Given the description of an element on the screen output the (x, y) to click on. 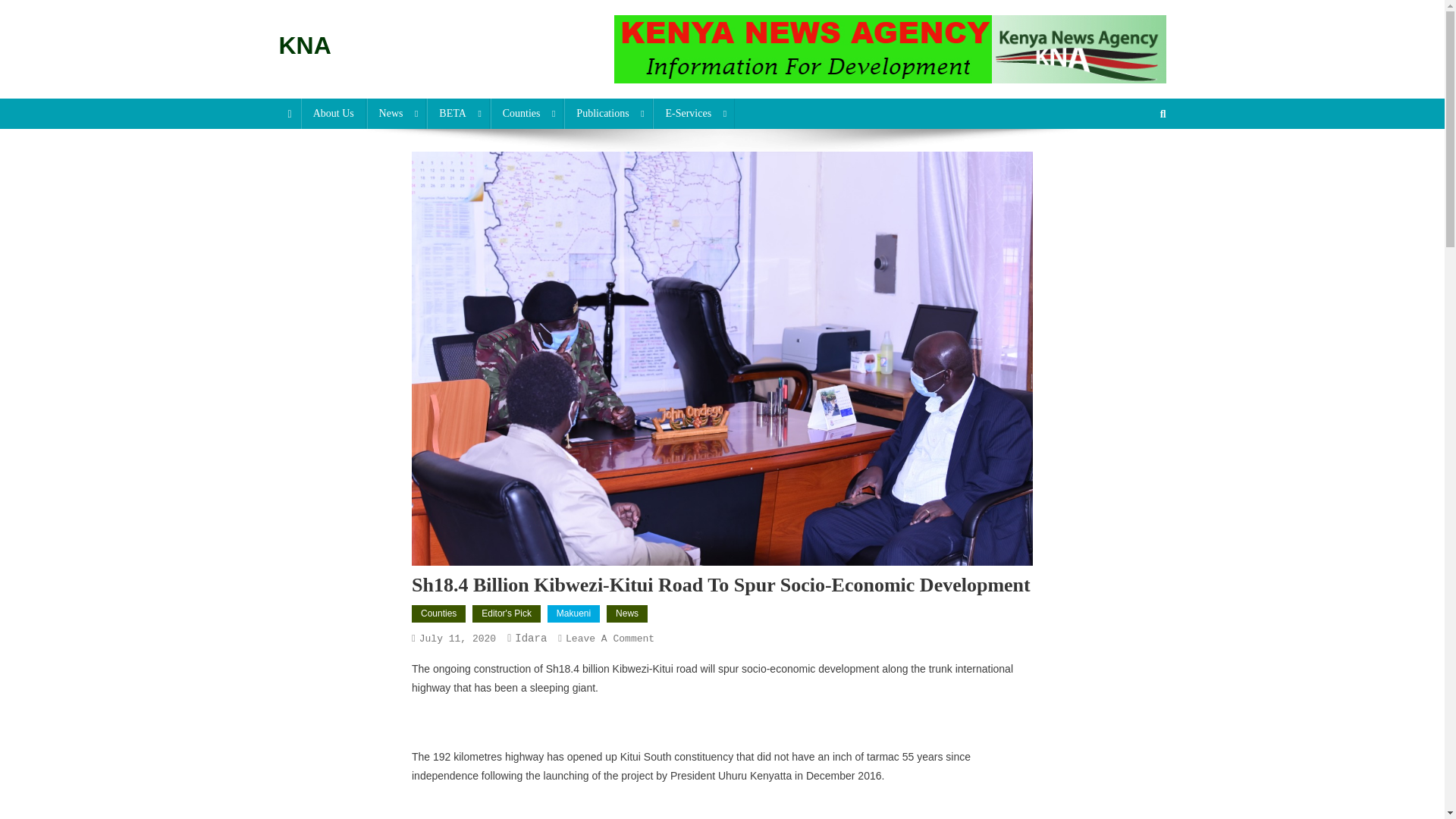
BETA (457, 113)
Counties (527, 113)
KNA (305, 44)
News (396, 113)
About Us (333, 113)
